Given the description of an element on the screen output the (x, y) to click on. 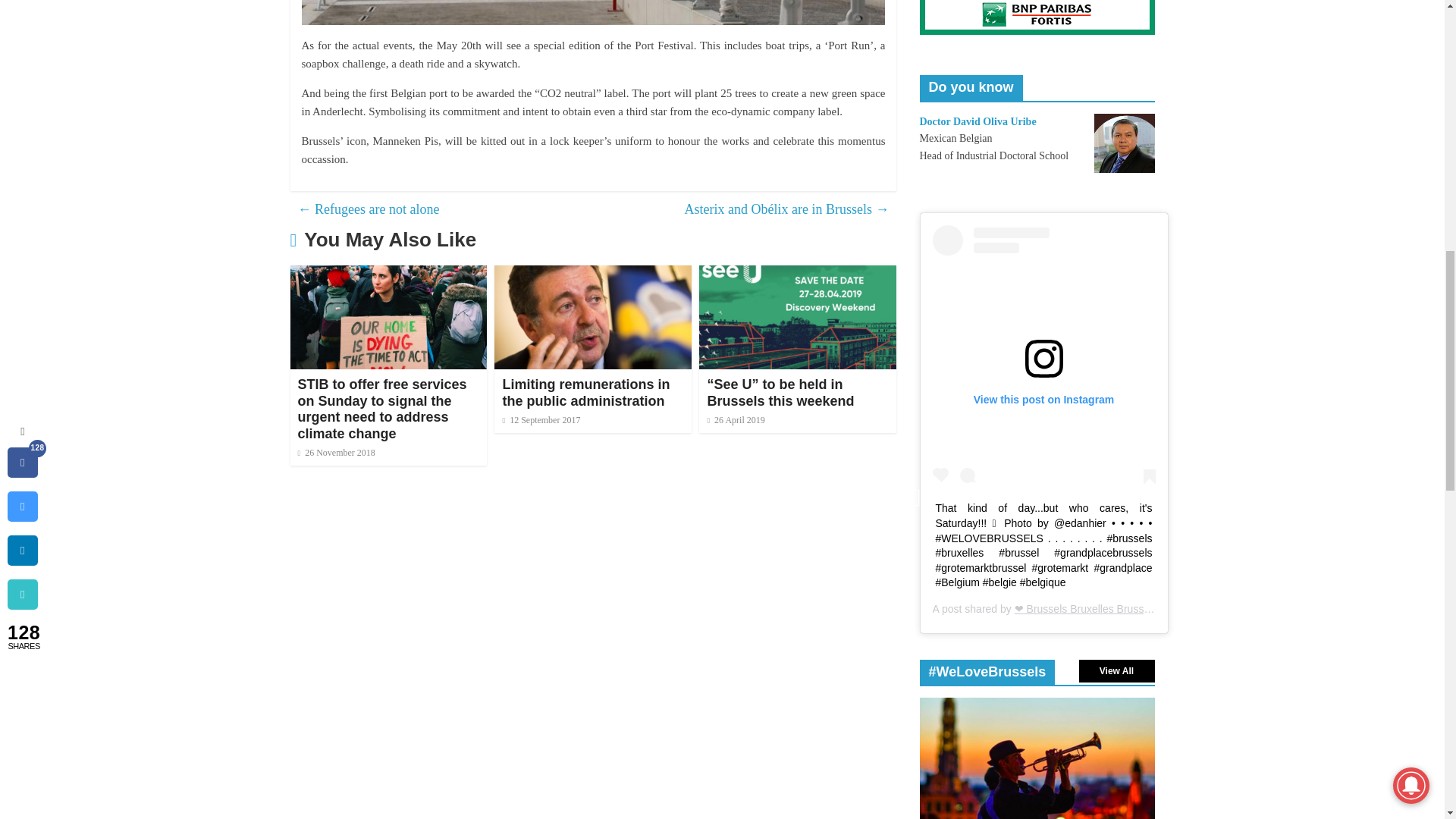
9 h 37 min (540, 419)
18 h 11 min (335, 452)
26 April 2019 (735, 419)
Limiting remunerations in the public administration (593, 274)
12 September 2017 (540, 419)
15 h 00 min (735, 419)
Limiting remunerations in the public administration (585, 392)
Limiting remunerations in the public administration (585, 392)
